Given the description of an element on the screen output the (x, y) to click on. 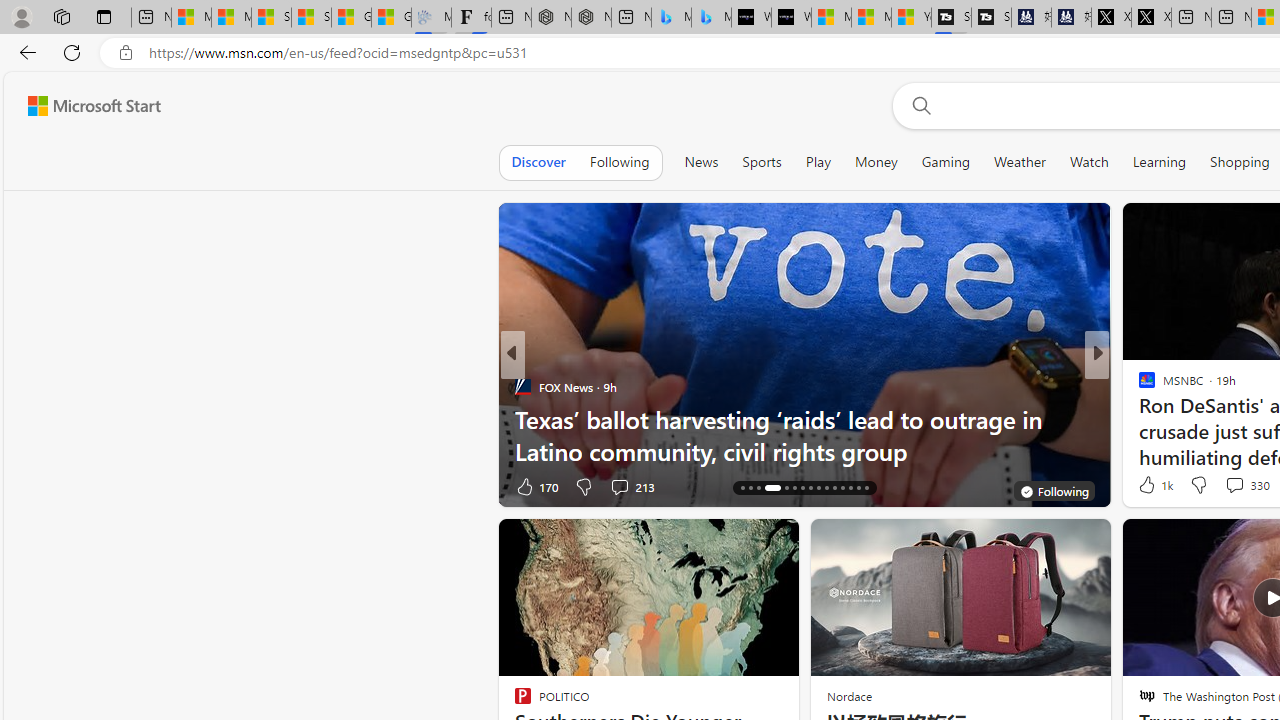
Web search (917, 105)
Sports (761, 162)
Sports (761, 161)
View comments 55 Comment (1229, 485)
View comments 2 Comment (1229, 485)
626 Like (1151, 486)
170 Like (535, 486)
View comments 353 Comment (1247, 486)
Gaming (945, 162)
MUO (1138, 386)
Play (818, 162)
TAG24 NEWS (1138, 386)
